Given the description of an element on the screen output the (x, y) to click on. 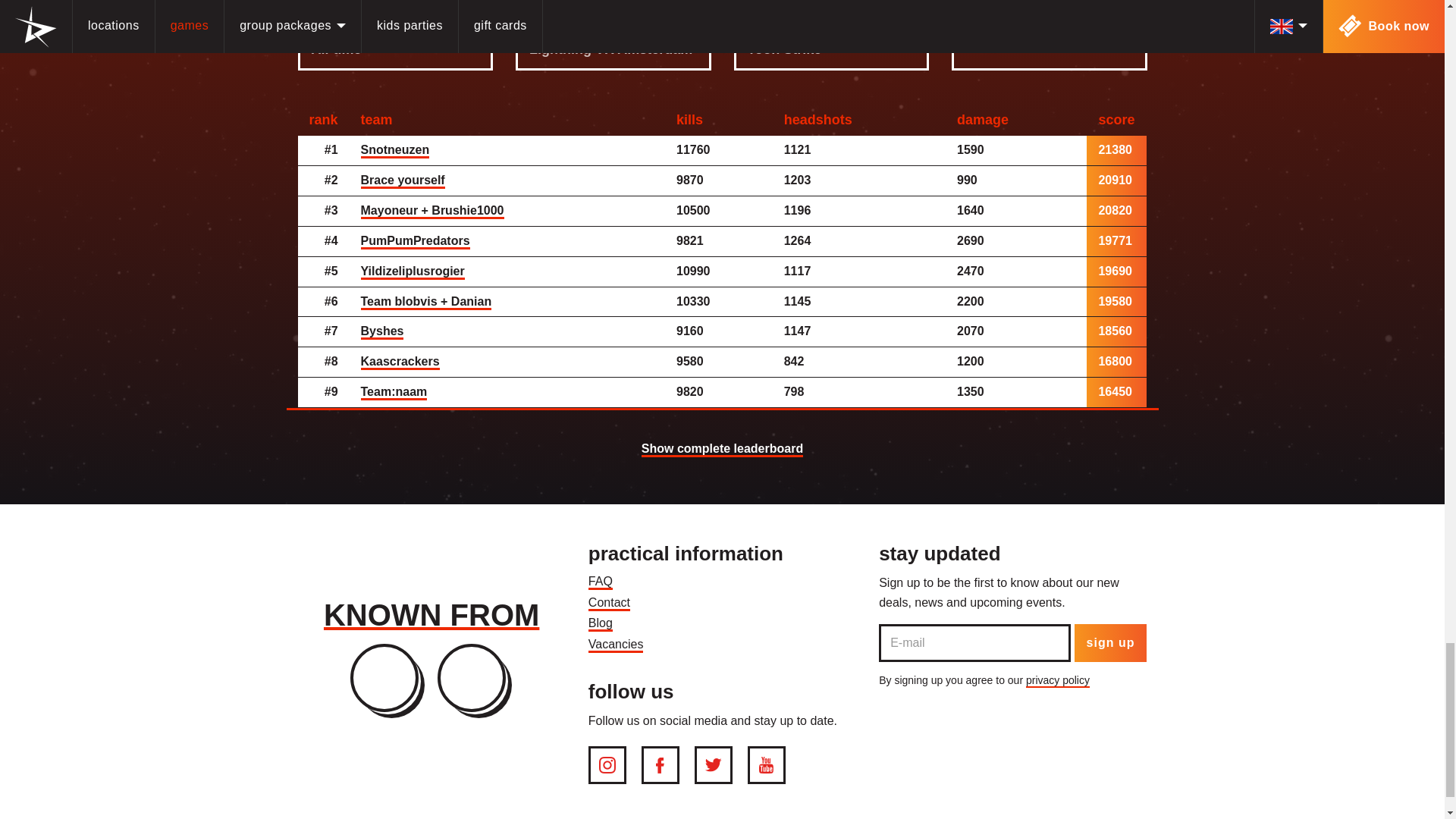
PumPumPredators (415, 241)
Byshes (382, 331)
Kaascrackers (400, 362)
Brace yourself (403, 181)
Yildizeliplusrogier (412, 272)
Snotneuzen (395, 150)
sign up (1110, 642)
Team:naam (394, 392)
